Given the description of an element on the screen output the (x, y) to click on. 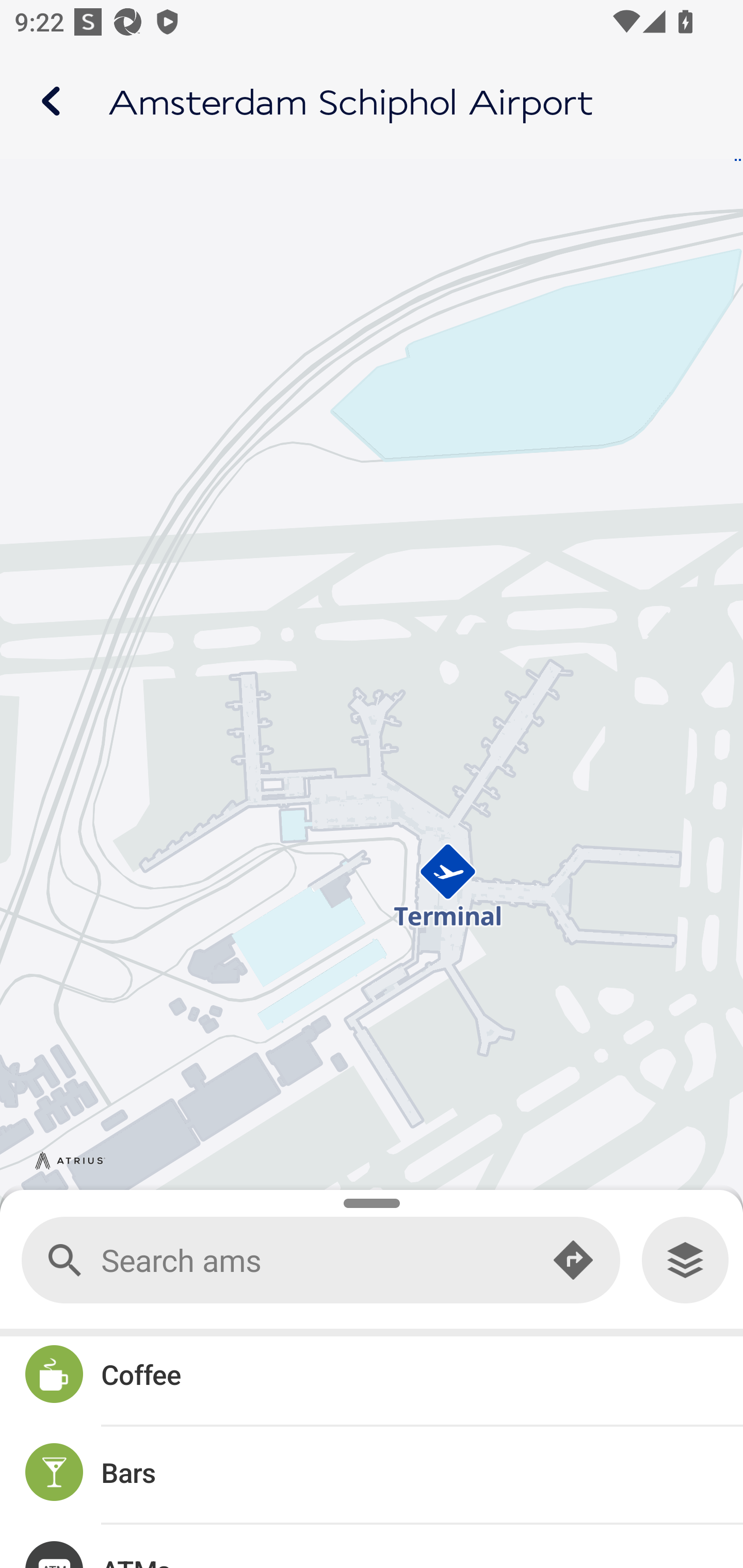
Airport map (371, 100)
Levels (684, 1259)
Directions (573, 1260)
Search for Search for Coffee (371, 1377)
Search for Search for Bars (371, 1475)
